Given the description of an element on the screen output the (x, y) to click on. 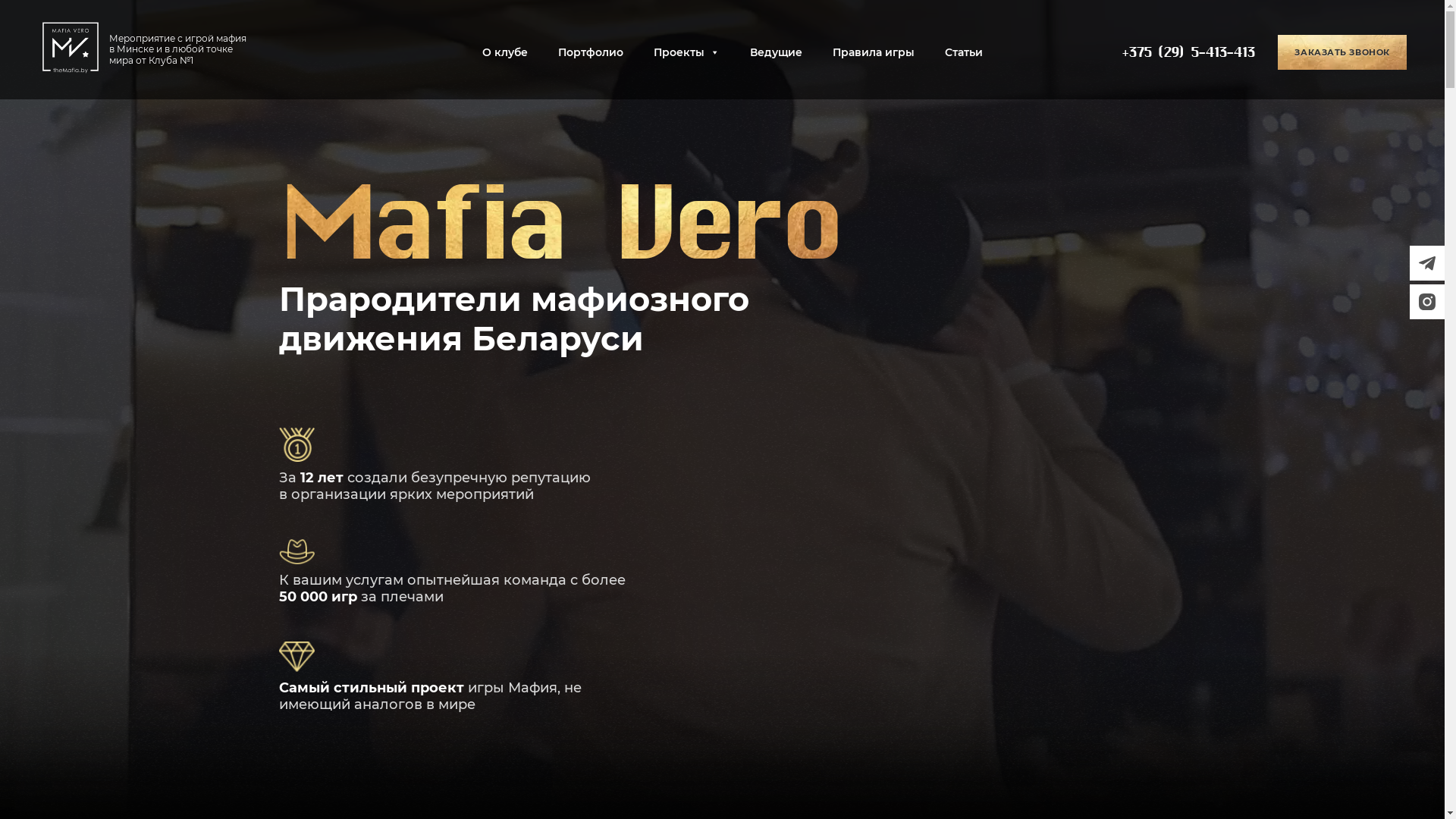
+375 (29) 5-413-413 Element type: text (1187, 51)
